Given the description of an element on the screen output the (x, y) to click on. 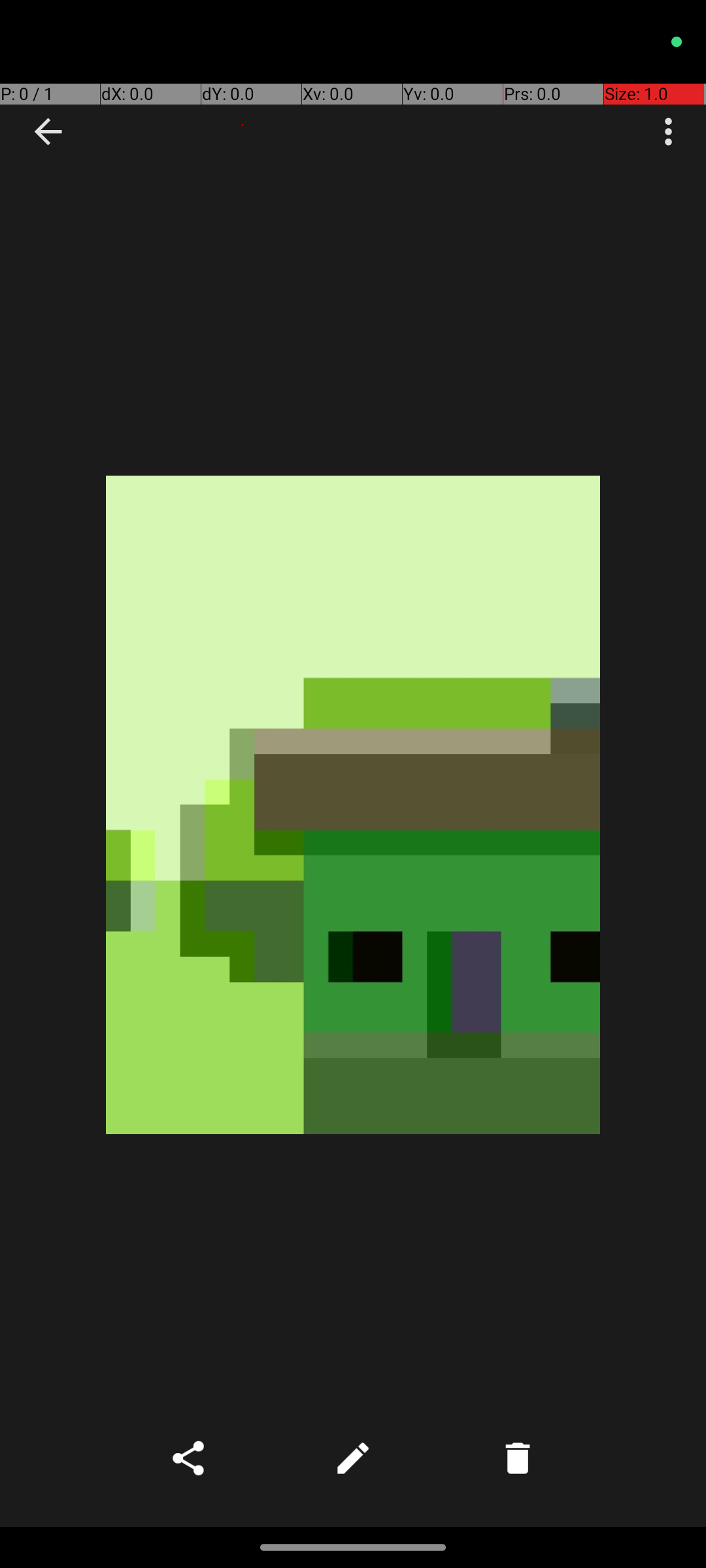
Photo taken on Oct 15, 2023 15:34:18 Element type: android.widget.ImageView (352, 804)
